Given the description of an element on the screen output the (x, y) to click on. 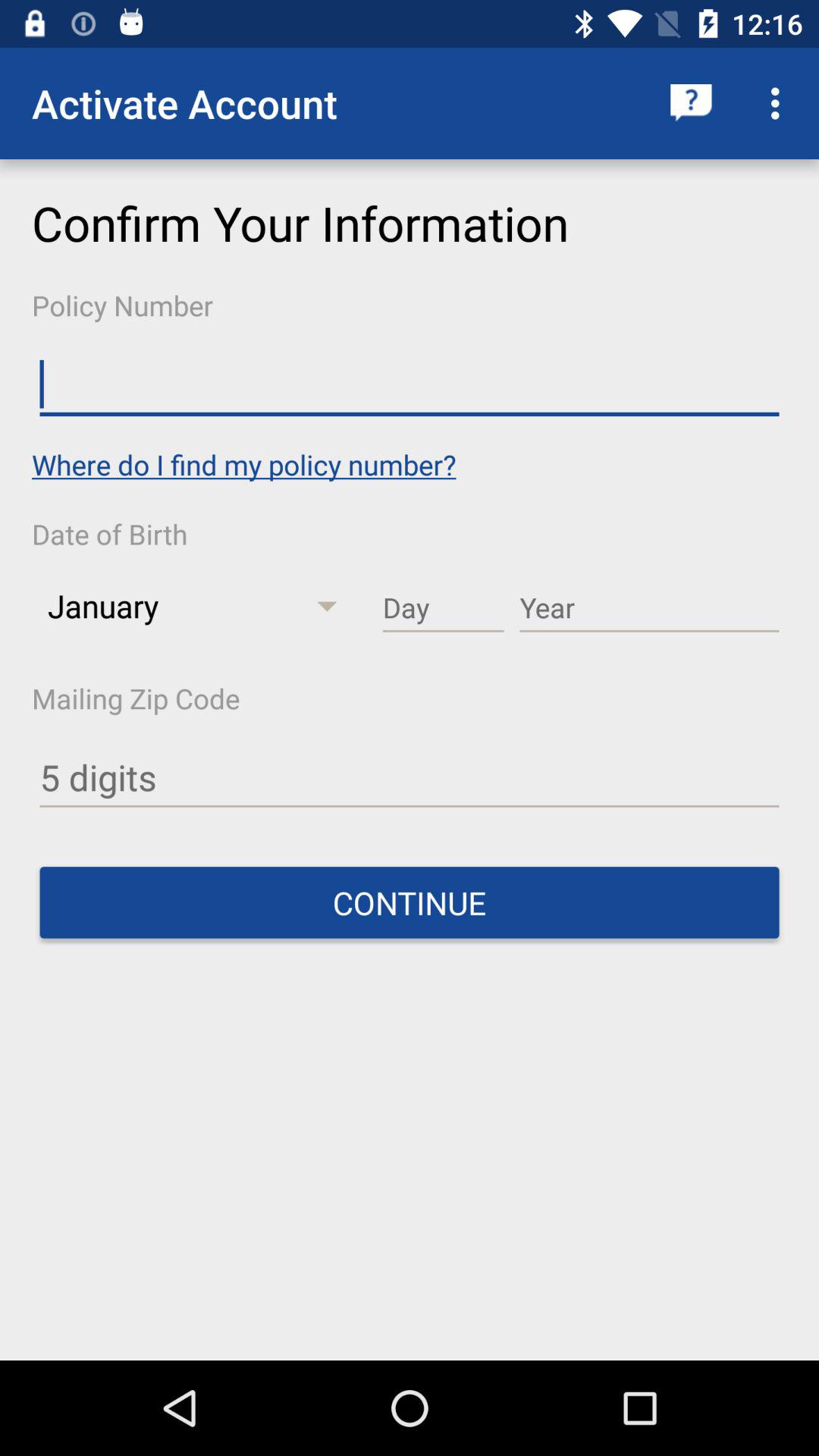
open icon below the where do i item (442, 607)
